Given the description of an element on the screen output the (x, y) to click on. 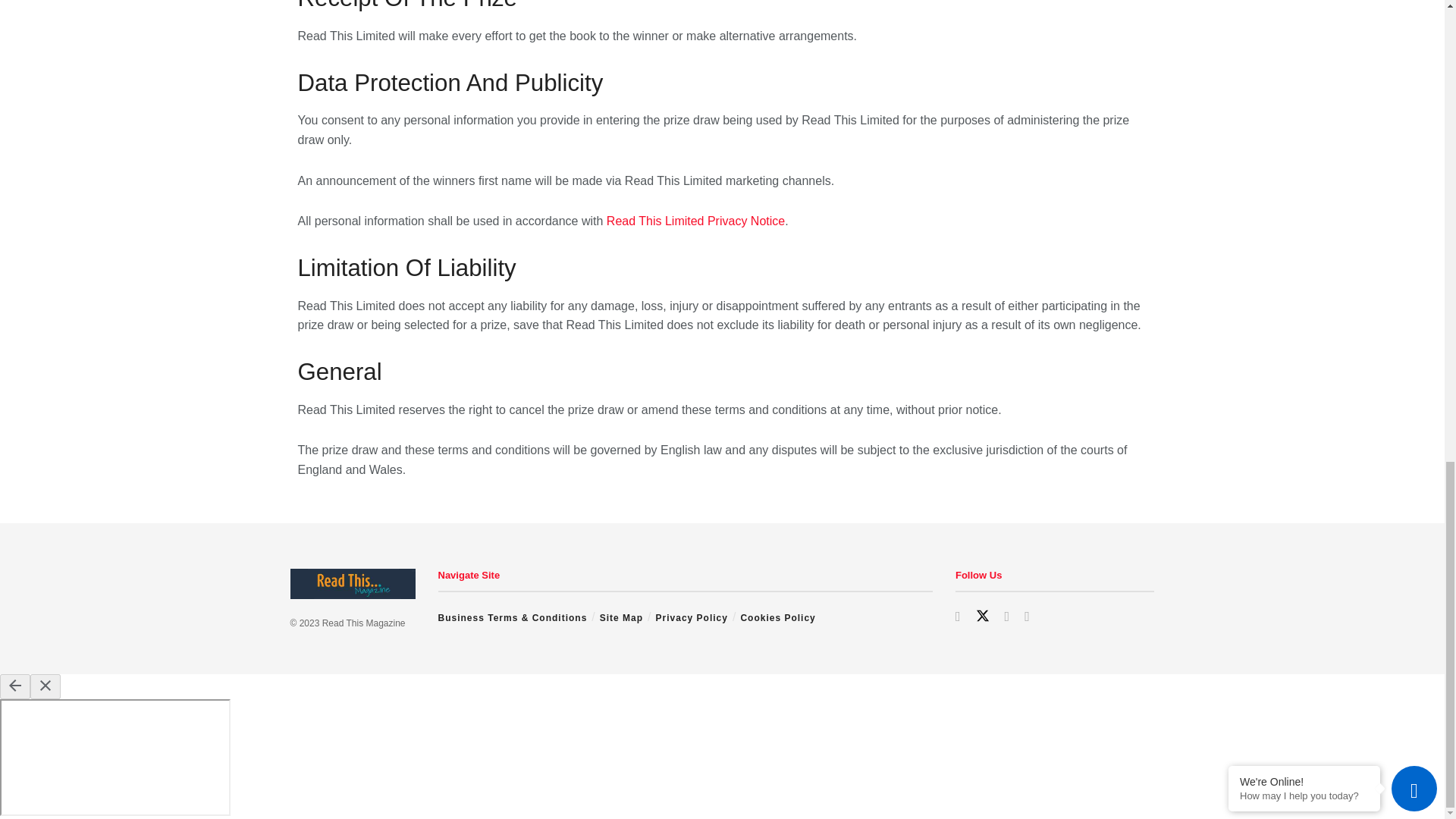
Privacy Policy (692, 617)
Site Map (621, 617)
Cookies Policy (777, 617)
Read This Limited Privacy Notice (695, 220)
